Given the description of an element on the screen output the (x, y) to click on. 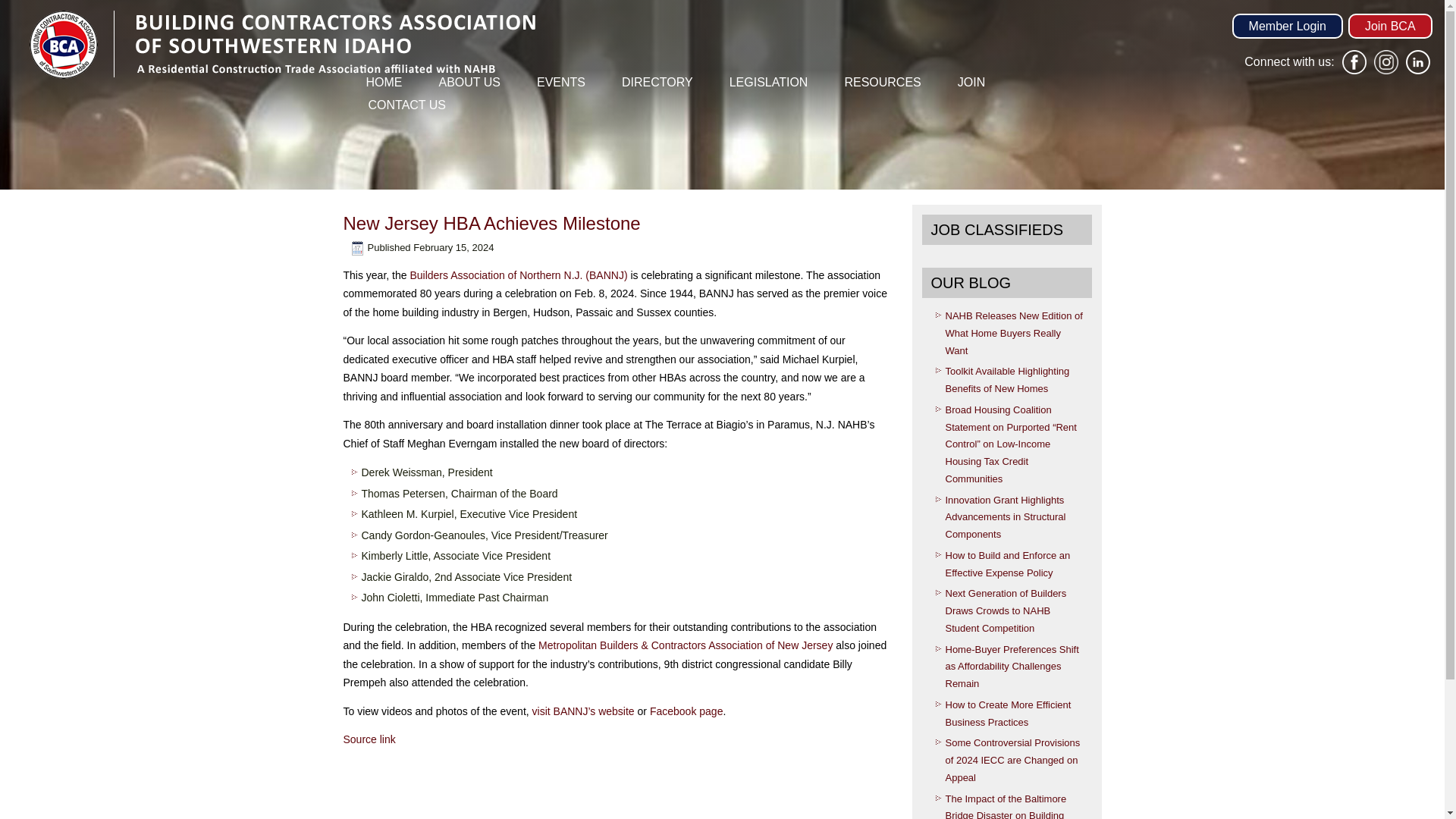
Member Login (1286, 25)
HOME (384, 82)
Home (384, 82)
Join BCA (1390, 25)
About Us (469, 82)
EVENTS (561, 82)
ABOUT US (469, 82)
